Given the description of an element on the screen output the (x, y) to click on. 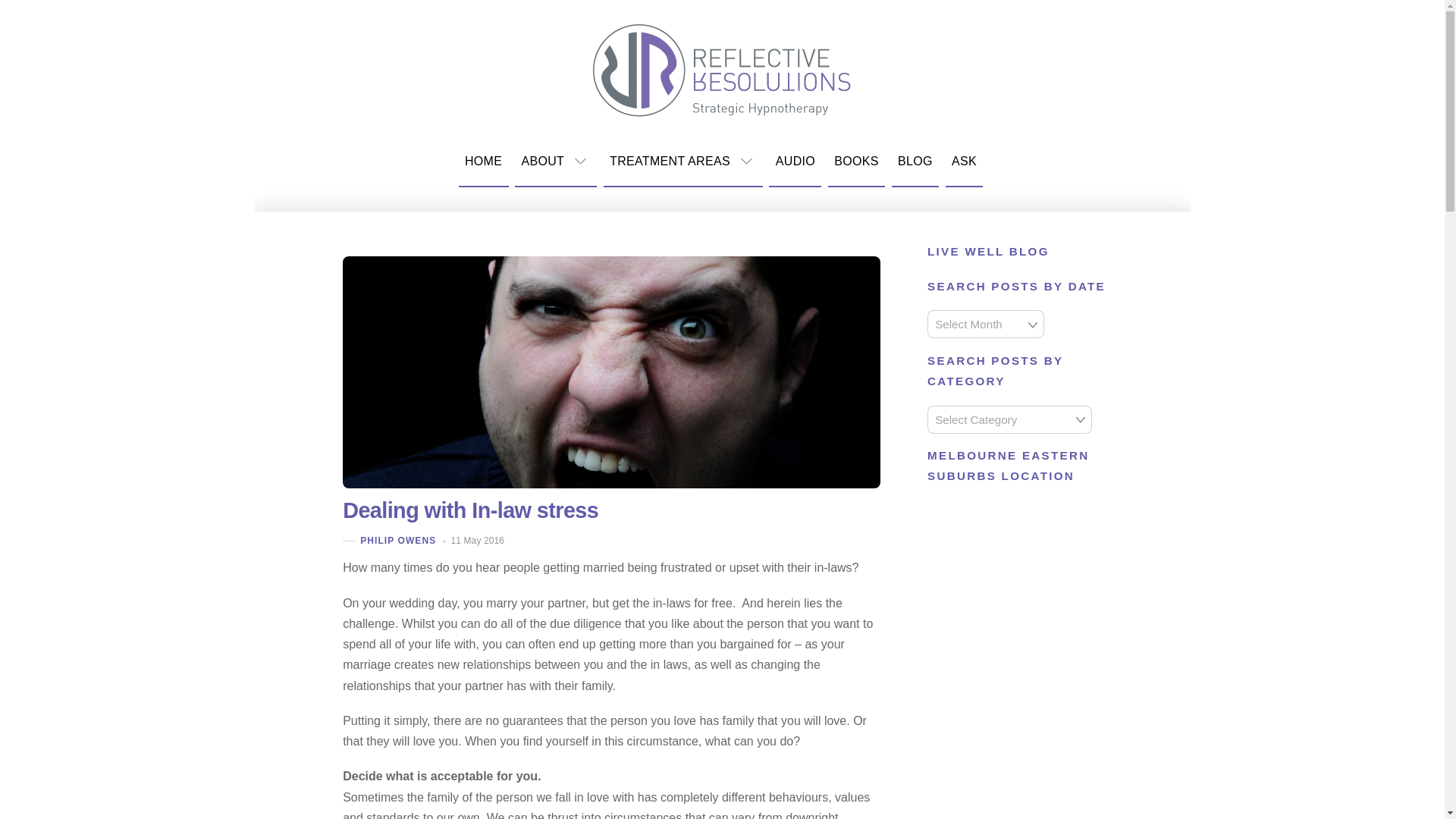
AUDIO (794, 162)
BLOG (915, 162)
TREATMENT AREAS (683, 162)
HOME (483, 162)
Reflective Resolutions (721, 67)
Dealing with In-law stress (470, 509)
PHILIP OWENS (397, 540)
MP900443086 (611, 372)
ASK (964, 162)
BOOKS (856, 162)
ABOUT (555, 162)
